Given the description of an element on the screen output the (x, y) to click on. 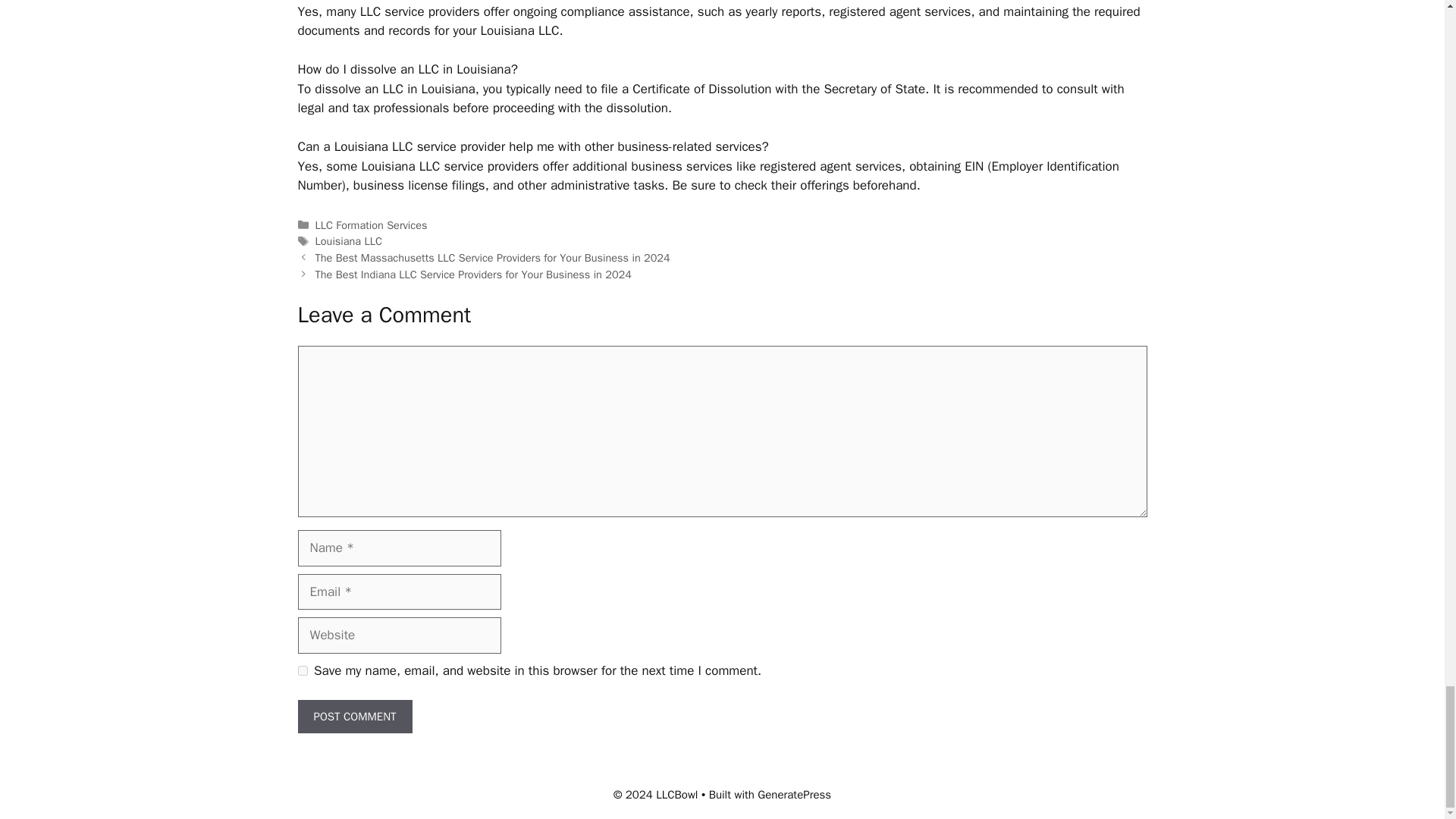
GeneratePress (794, 794)
Post Comment (354, 716)
LLC Formation Services (371, 224)
Post Comment (354, 716)
yes (302, 670)
Louisiana LLC (348, 241)
